Given the description of an element on the screen output the (x, y) to click on. 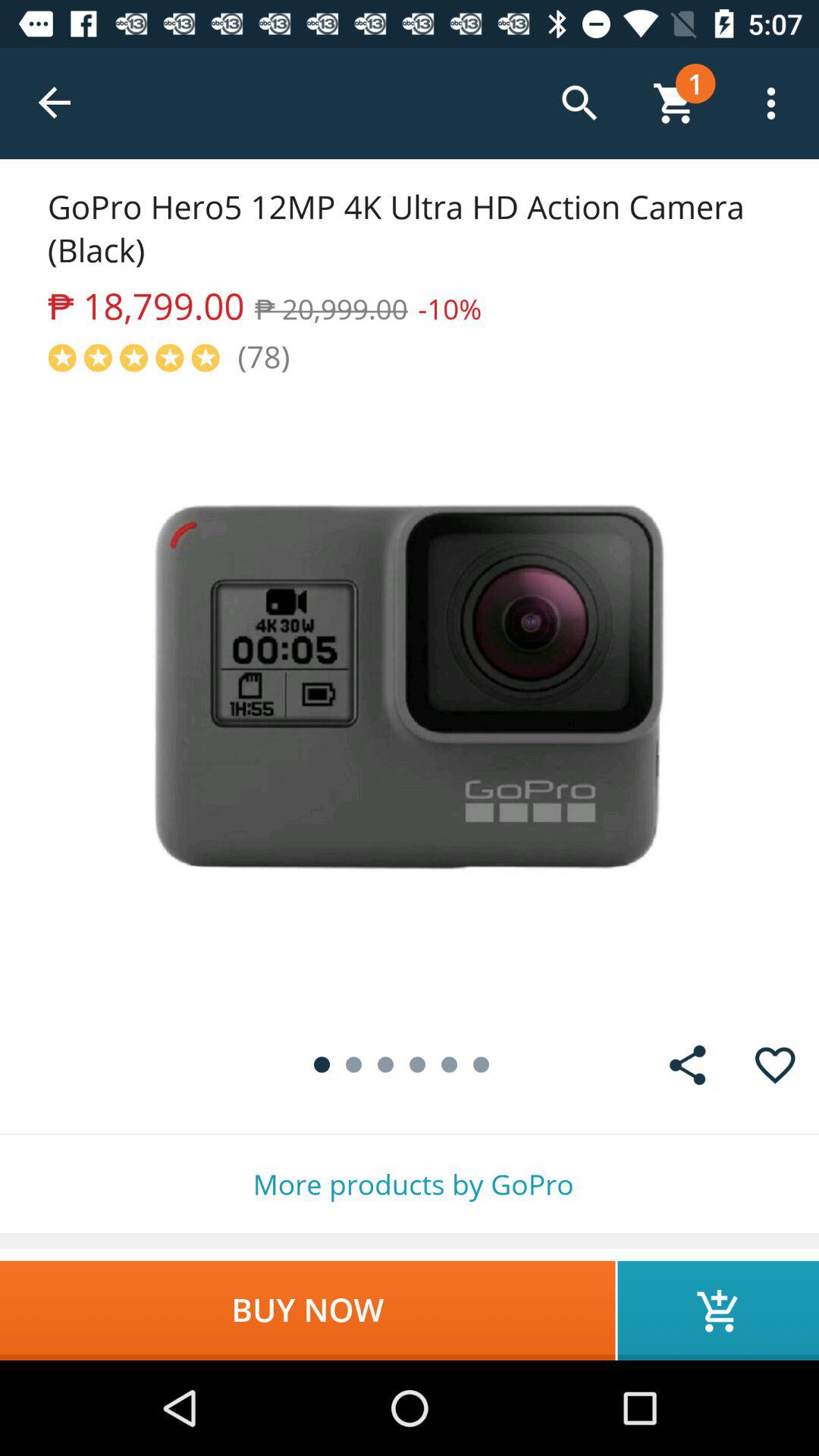
select icon below the more products by item (307, 1310)
